Given the description of an element on the screen output the (x, y) to click on. 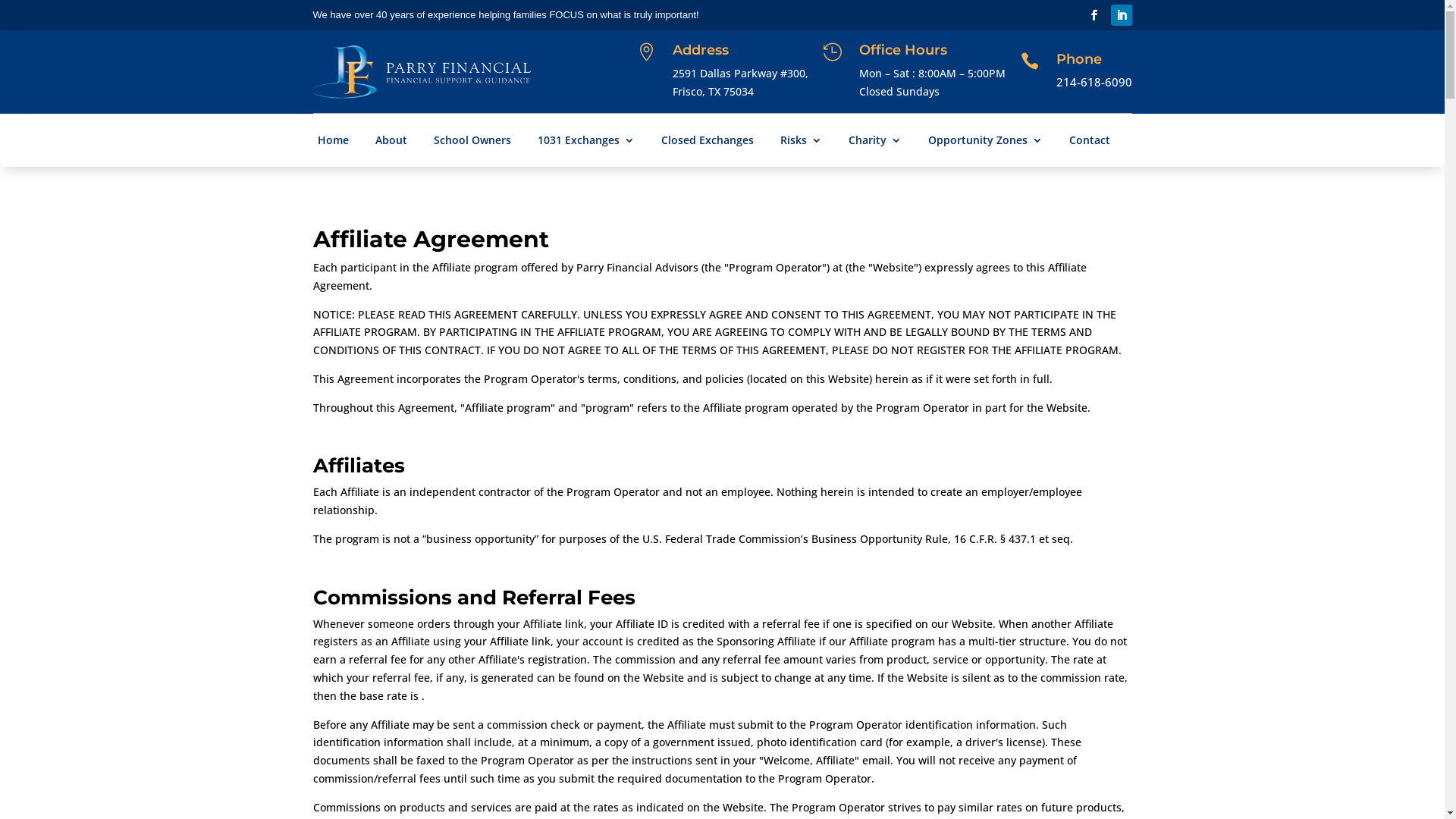
Opportunity Zones Element type: text (985, 142)
Home Element type: text (332, 142)
Parry Financial Element type: hover (421, 71)
Charity Element type: text (874, 142)
Risks Element type: text (801, 142)
Contact Element type: text (1089, 142)
Follow on Facebook Element type: hover (1093, 14)
About Element type: text (391, 142)
Closed Exchanges Element type: text (707, 142)
School Owners Element type: text (472, 142)
Follow on LinkedIn Element type: hover (1120, 14)
1031 Exchanges Element type: text (585, 142)
